Given the description of an element on the screen output the (x, y) to click on. 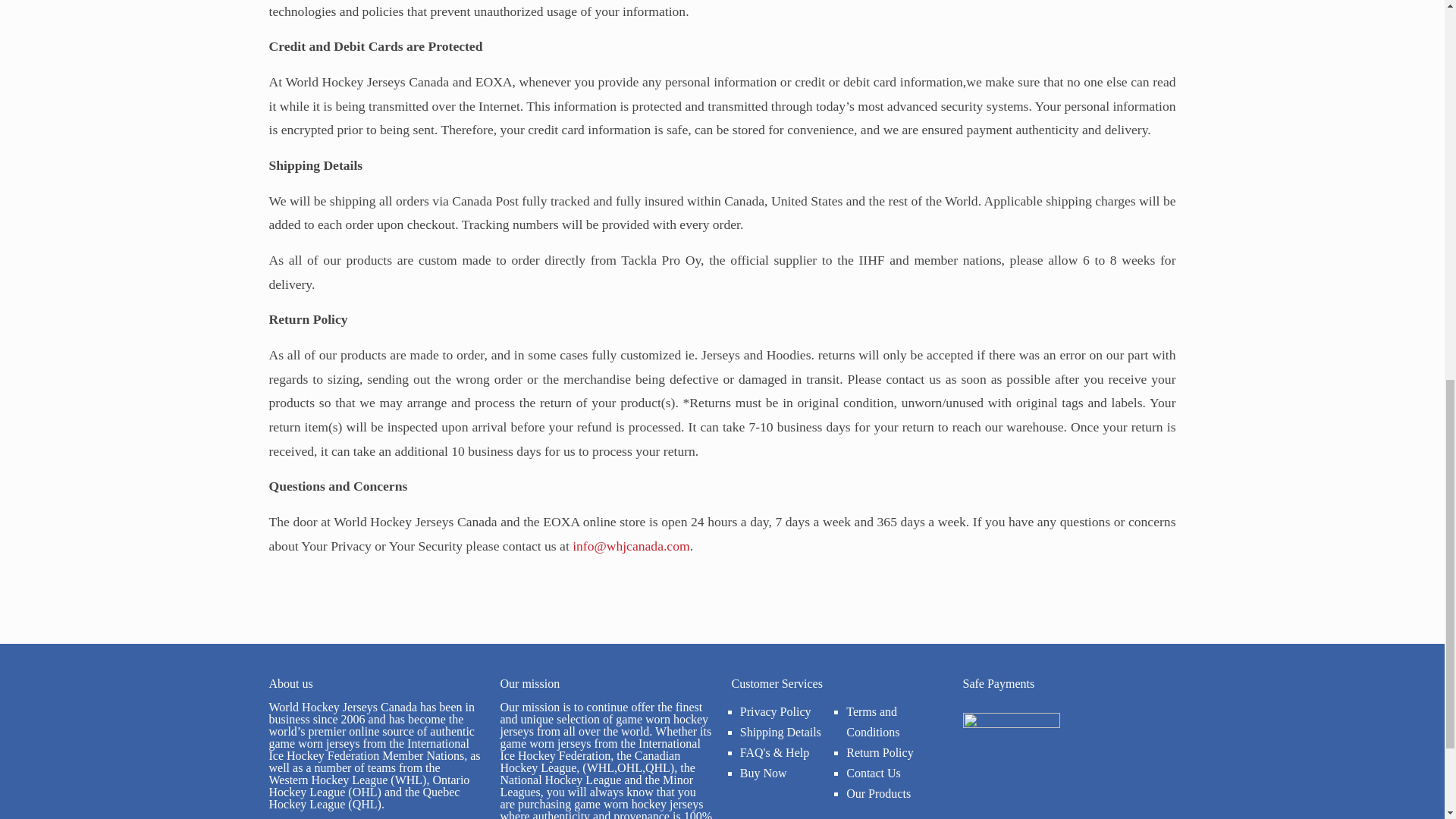
Our Products (878, 793)
Shipping Details (780, 730)
Contact Us (873, 771)
Terms and Conditions (872, 721)
Buy Now (763, 771)
Return Policy (878, 752)
Privacy Policy (774, 711)
